Given the description of an element on the screen output the (x, y) to click on. 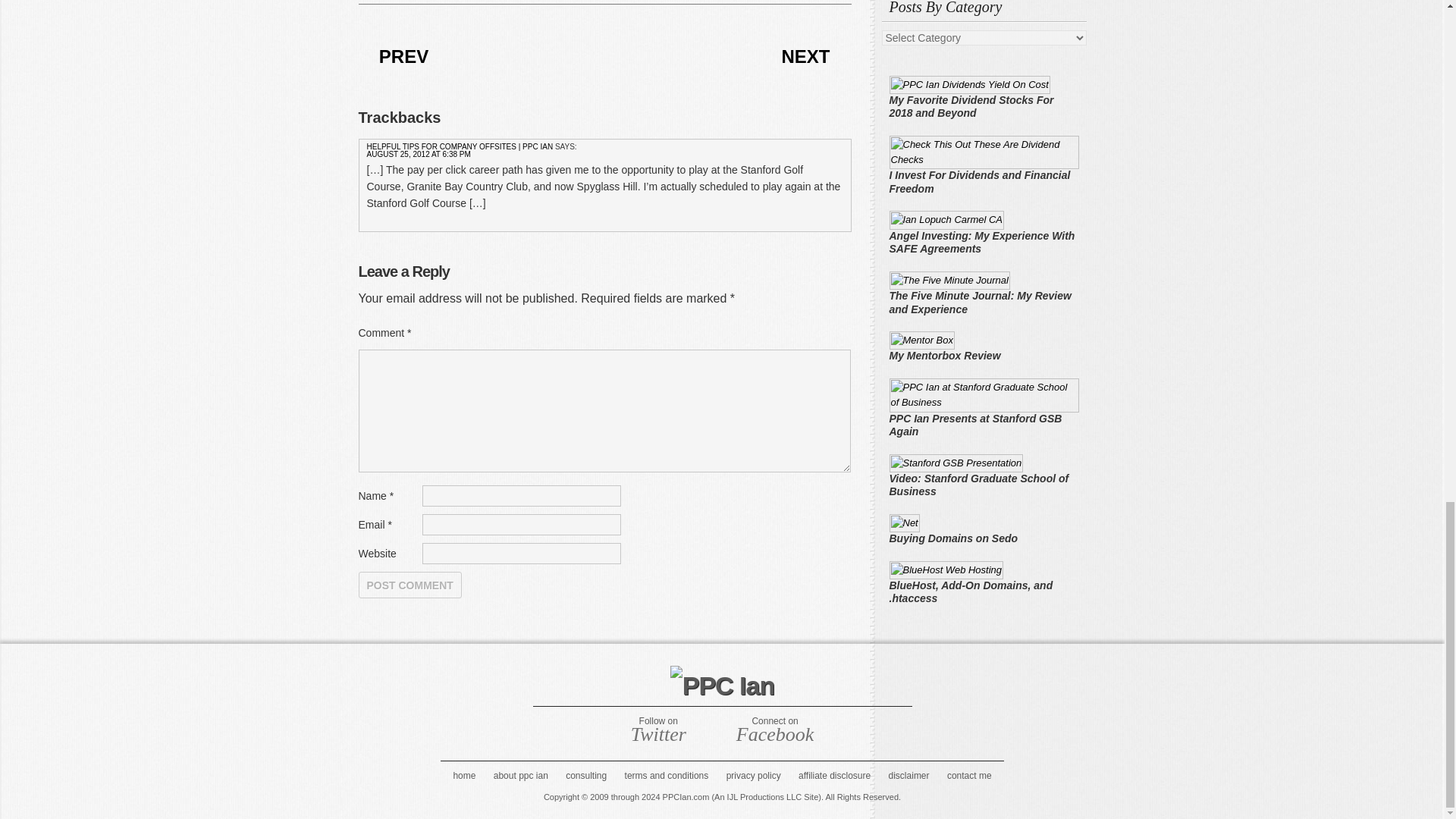
AUGUST 25, 2012 AT 6:38 PM (418, 153)
NEXT (805, 56)
PREV (403, 56)
PPC Ian (721, 685)
Post Comment (409, 584)
Post Comment (409, 584)
